Given the description of an element on the screen output the (x, y) to click on. 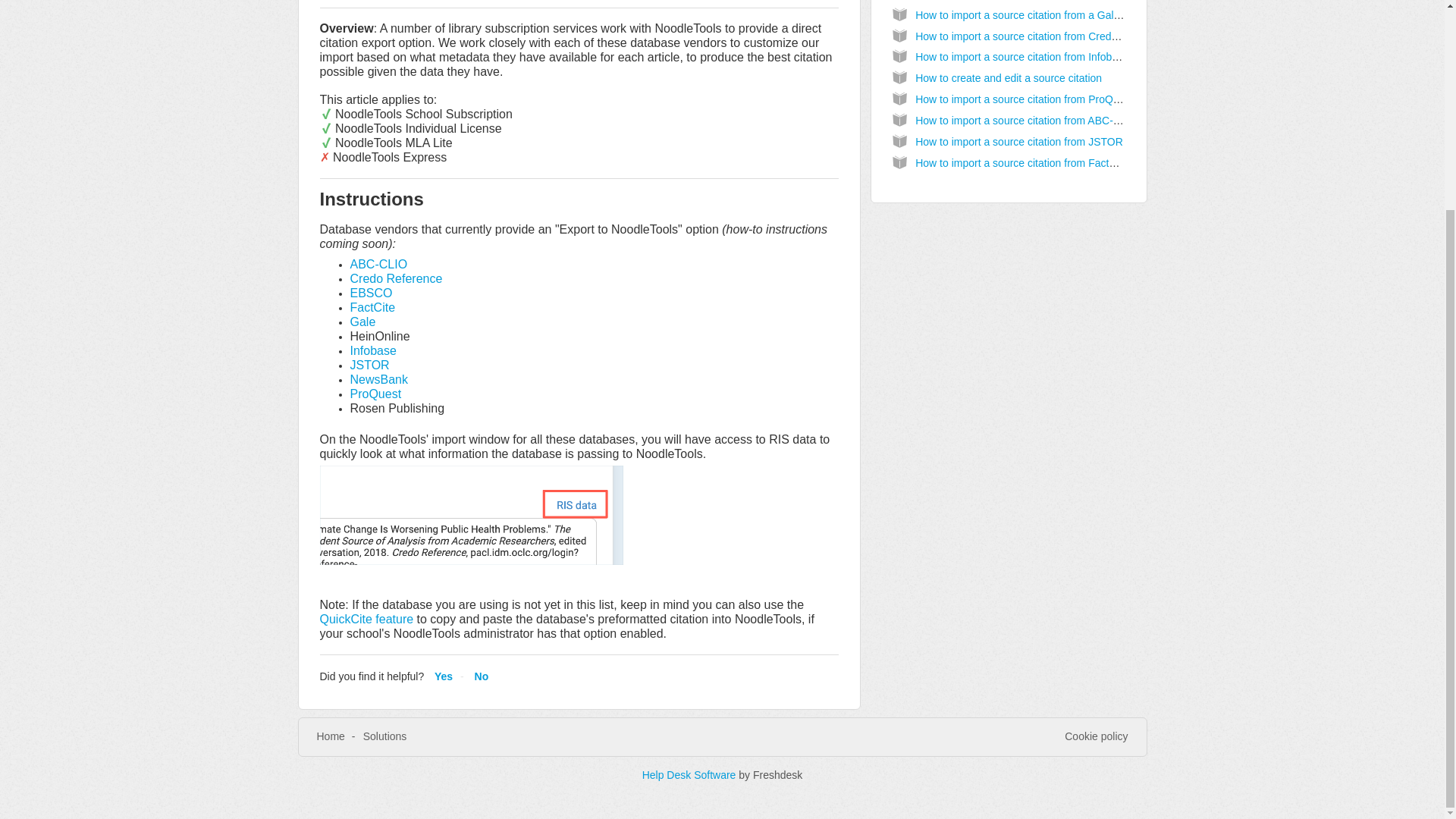
How to create and edit a source citation (1008, 78)
QuickCite feature (366, 618)
Why we love Cookies (1095, 736)
How to import a source citation from Credo Reference (1042, 36)
Cookie policy (1095, 736)
Home (331, 736)
FactCite (373, 307)
How to import a source citation from Infobase (1022, 56)
How to import a source citation from ABC-CLIO (1026, 120)
Infobase (373, 350)
Solutions (384, 736)
How to import a source citation from JSTOR (1018, 141)
JSTOR (370, 364)
ProQuest (375, 393)
ABC-CLIO (378, 264)
